Given the description of an element on the screen output the (x, y) to click on. 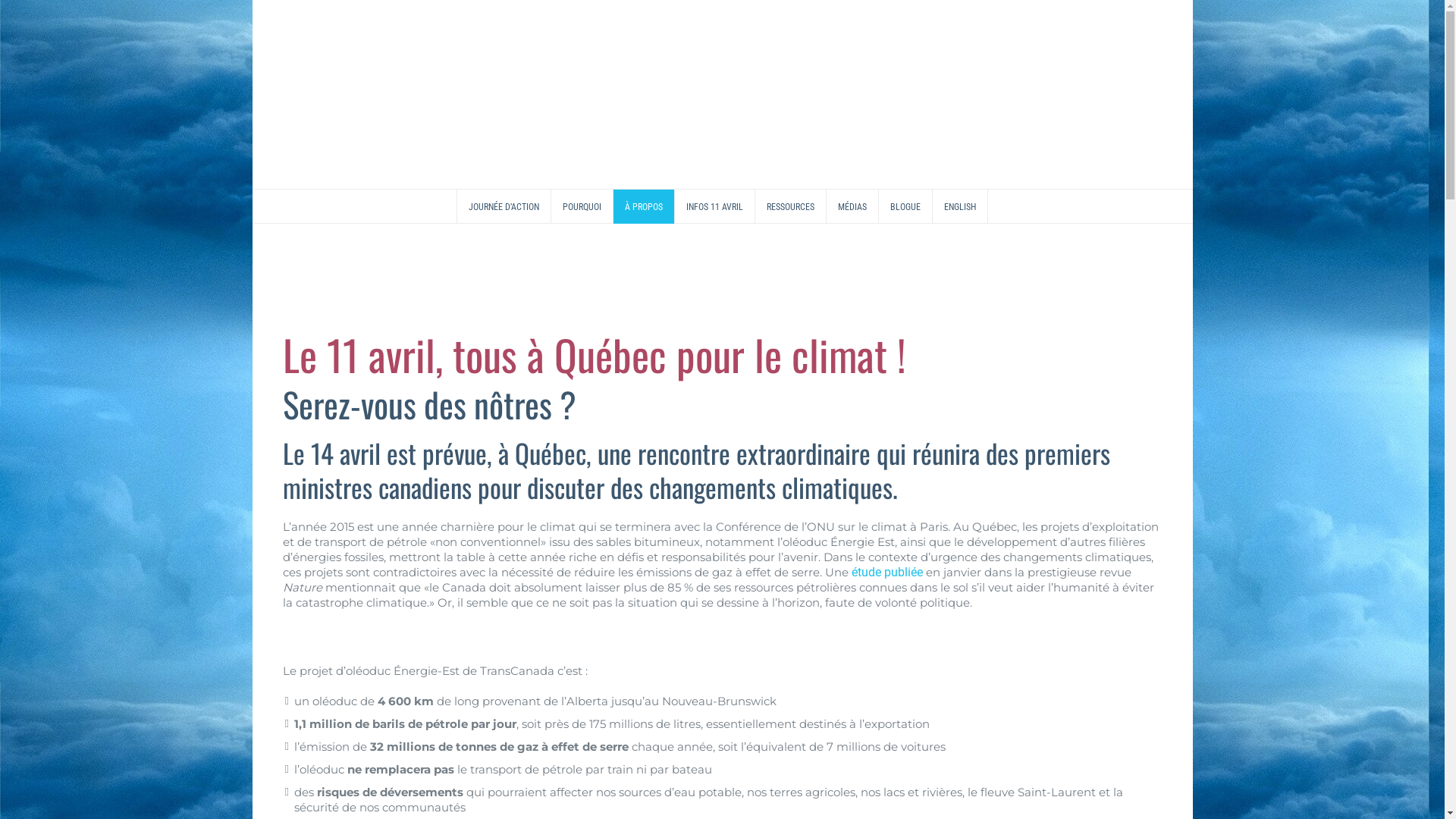
Twitter Element type: hover (1406, 119)
Pourquoi Element type: text (579, 546)
Infos 11 avril Element type: text (718, 546)
Ressources Element type: text (799, 546)
Facebook Element type: hover (1406, 81)
RESSOURCES Element type: text (790, 206)
POURQUOI Element type: text (582, 206)
BLOGUE Element type: text (905, 206)
ENGLISH Element type: text (960, 206)
Blogue Element type: text (919, 546)
English Element type: text (974, 546)
INFOS 11 AVRIL Element type: text (714, 206)
